Given the description of an element on the screen output the (x, y) to click on. 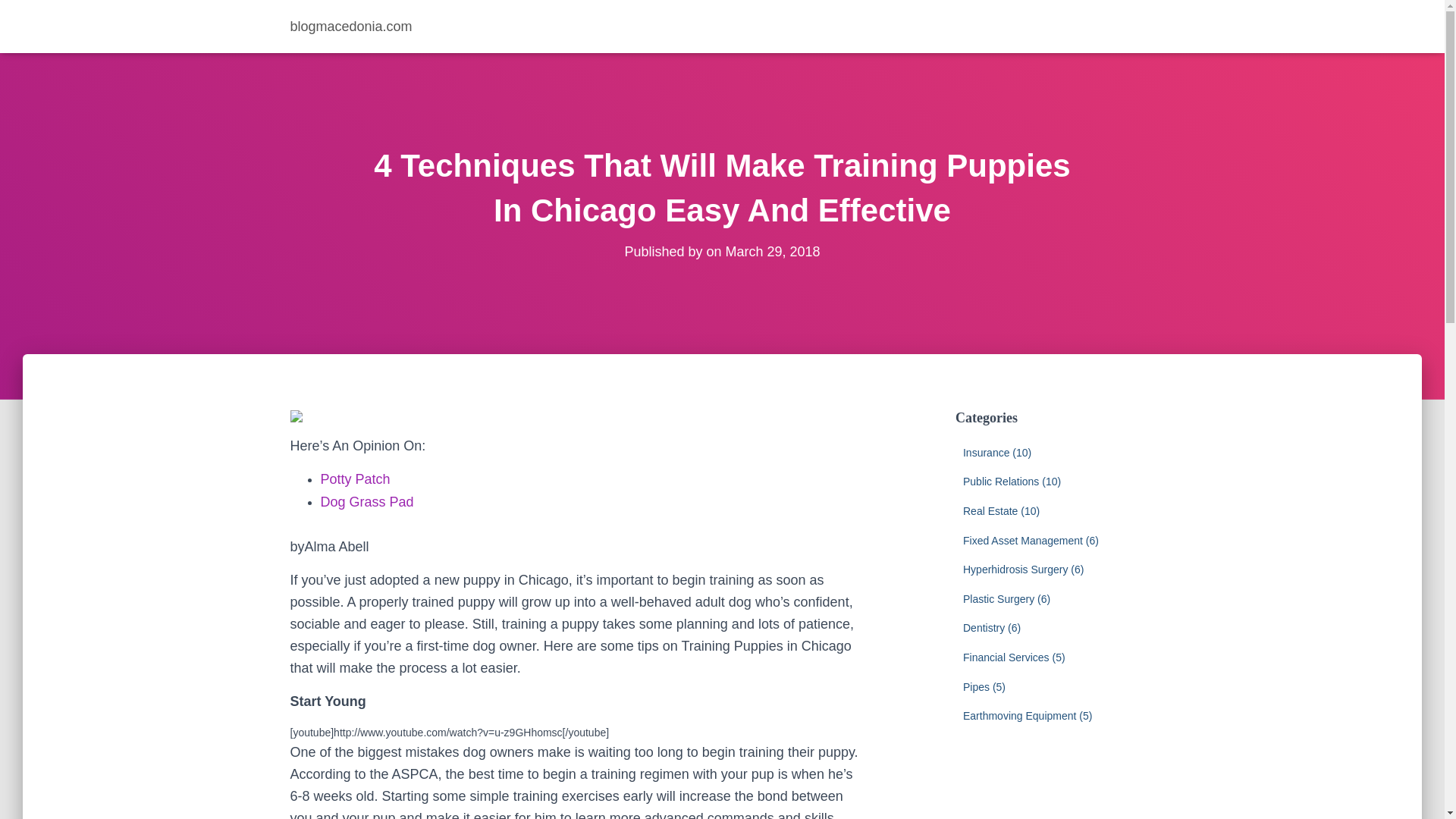
Dog Grass Pad (366, 501)
blogmacedonia.com (351, 26)
Potty Patch (355, 478)
blogmacedonia.com (351, 26)
